Given the description of an element on the screen output the (x, y) to click on. 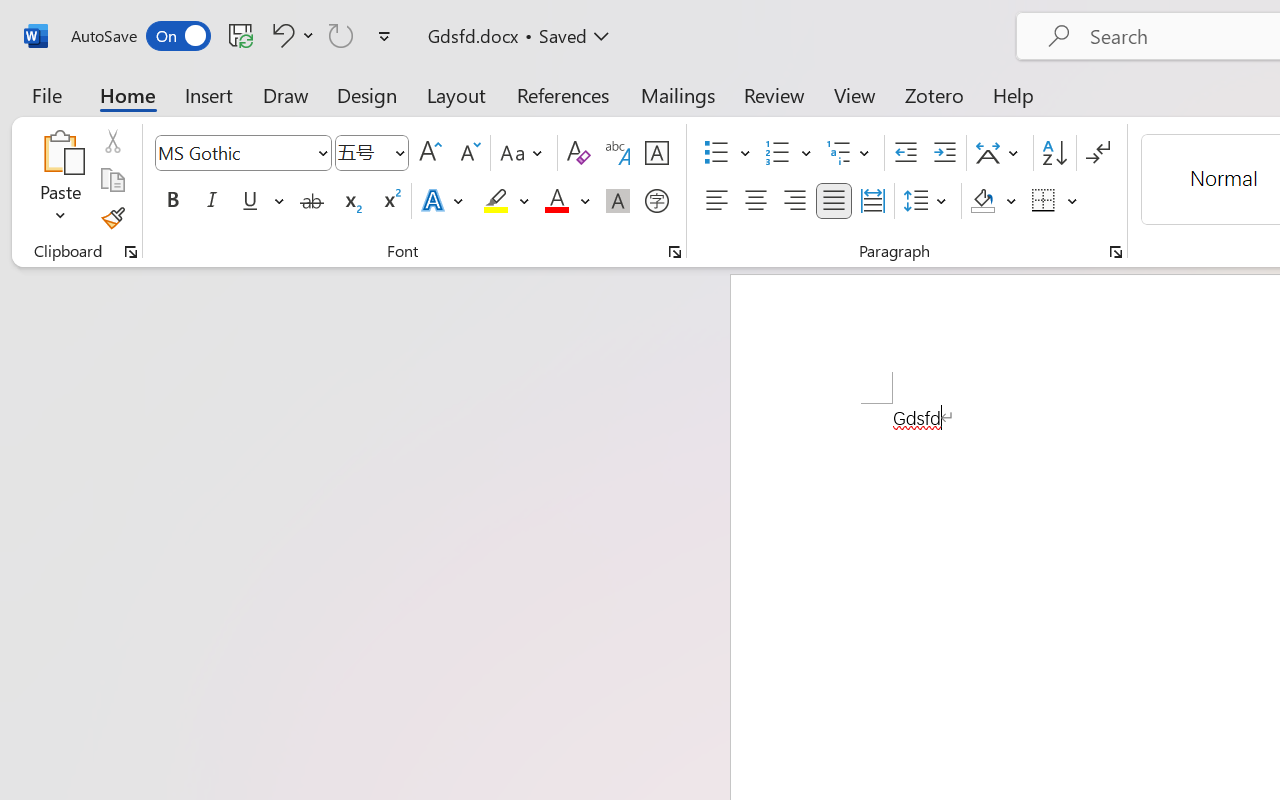
Line and Paragraph Spacing (927, 201)
Asian Layout (1000, 153)
